Given the description of an element on the screen output the (x, y) to click on. 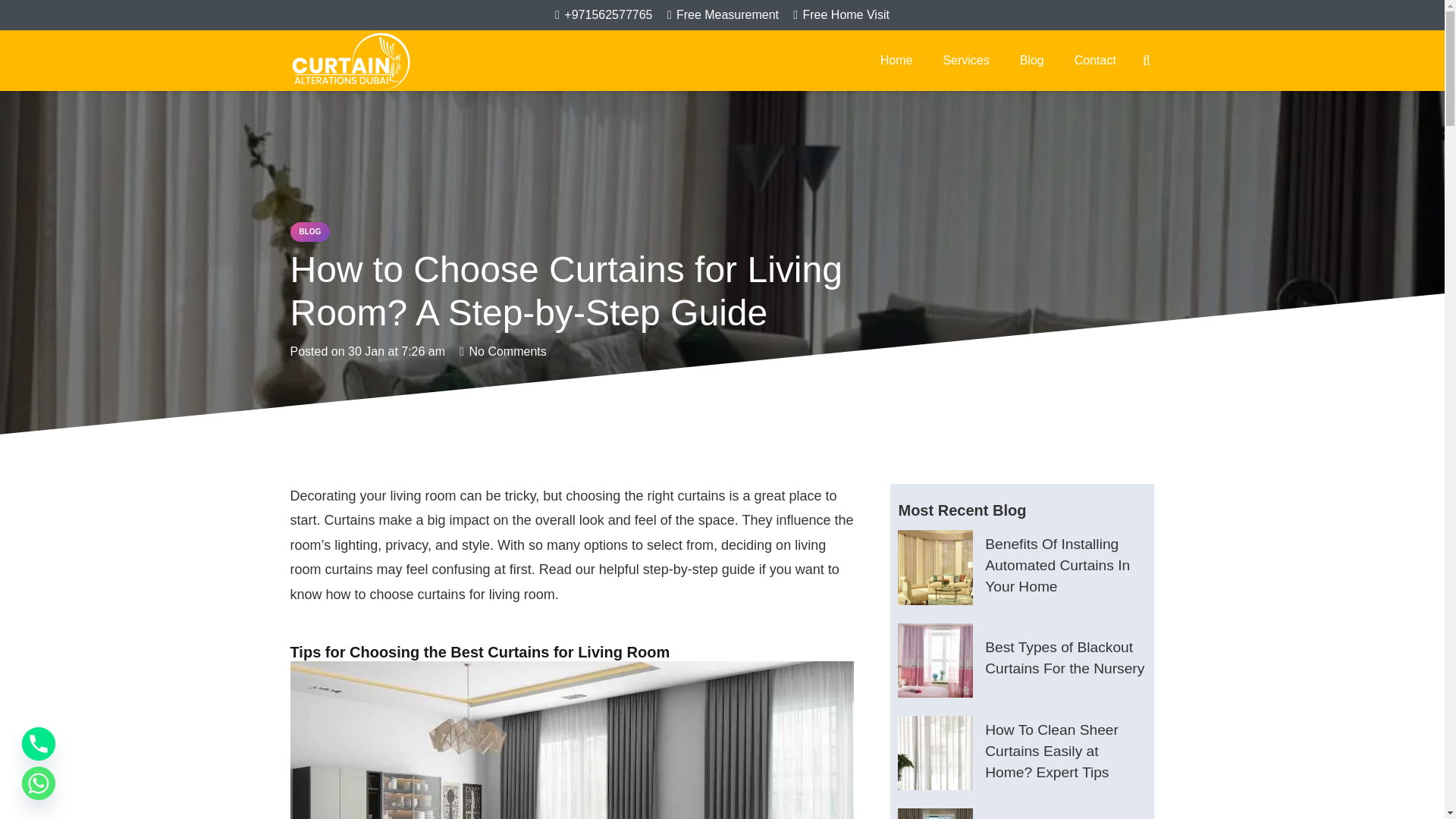
Blog (1031, 60)
No Comments (507, 350)
No Comments (507, 350)
BLOG (309, 231)
Home (896, 60)
Contact (1095, 60)
Services (965, 60)
